Given the description of an element on the screen output the (x, y) to click on. 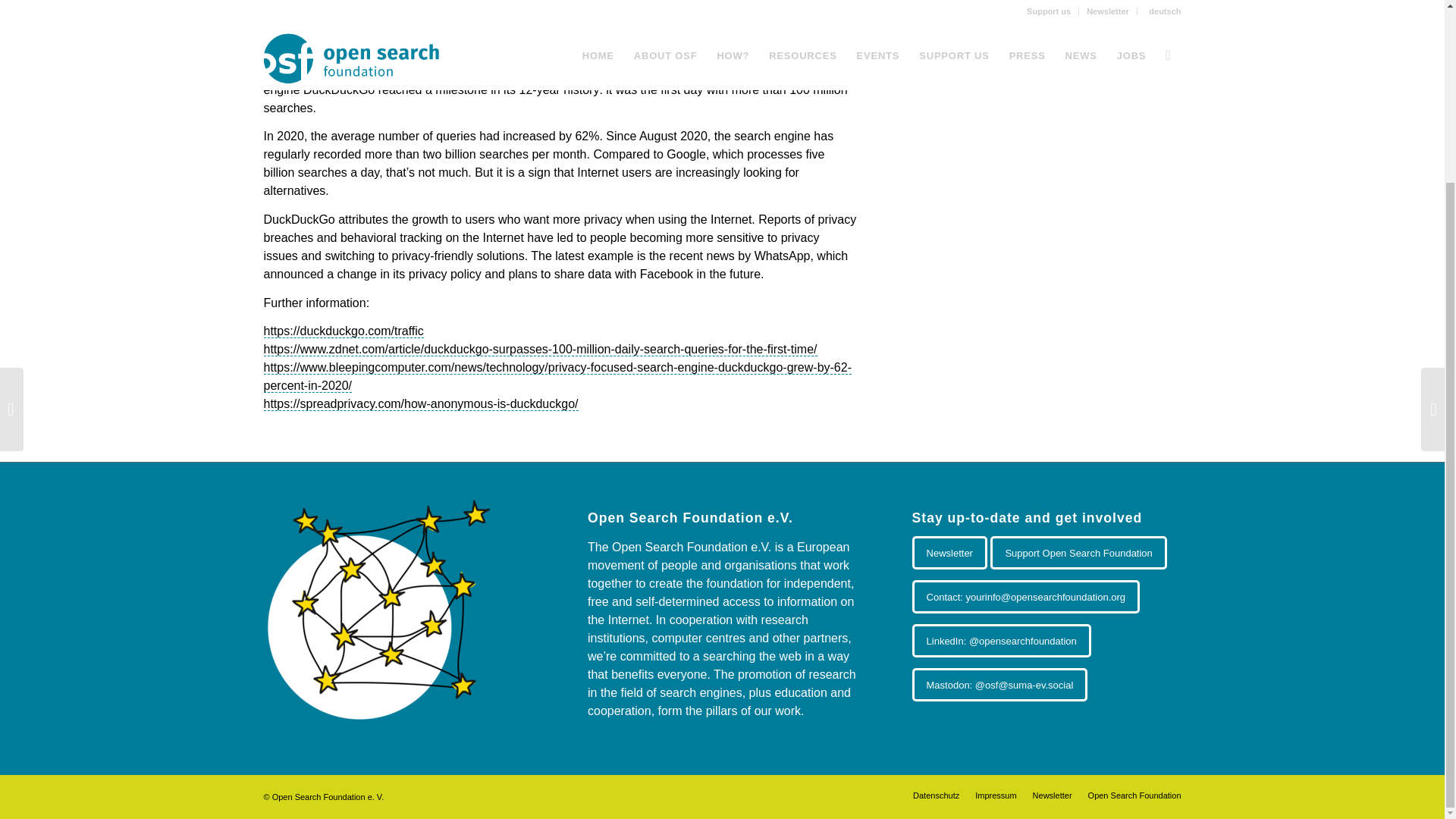
Impressum (995, 795)
Newsletter (1051, 795)
Open Search Foundation (1133, 795)
Support Open Search Foundation (1078, 552)
Newsletter (949, 552)
Datenschutz (935, 795)
